Given the description of an element on the screen output the (x, y) to click on. 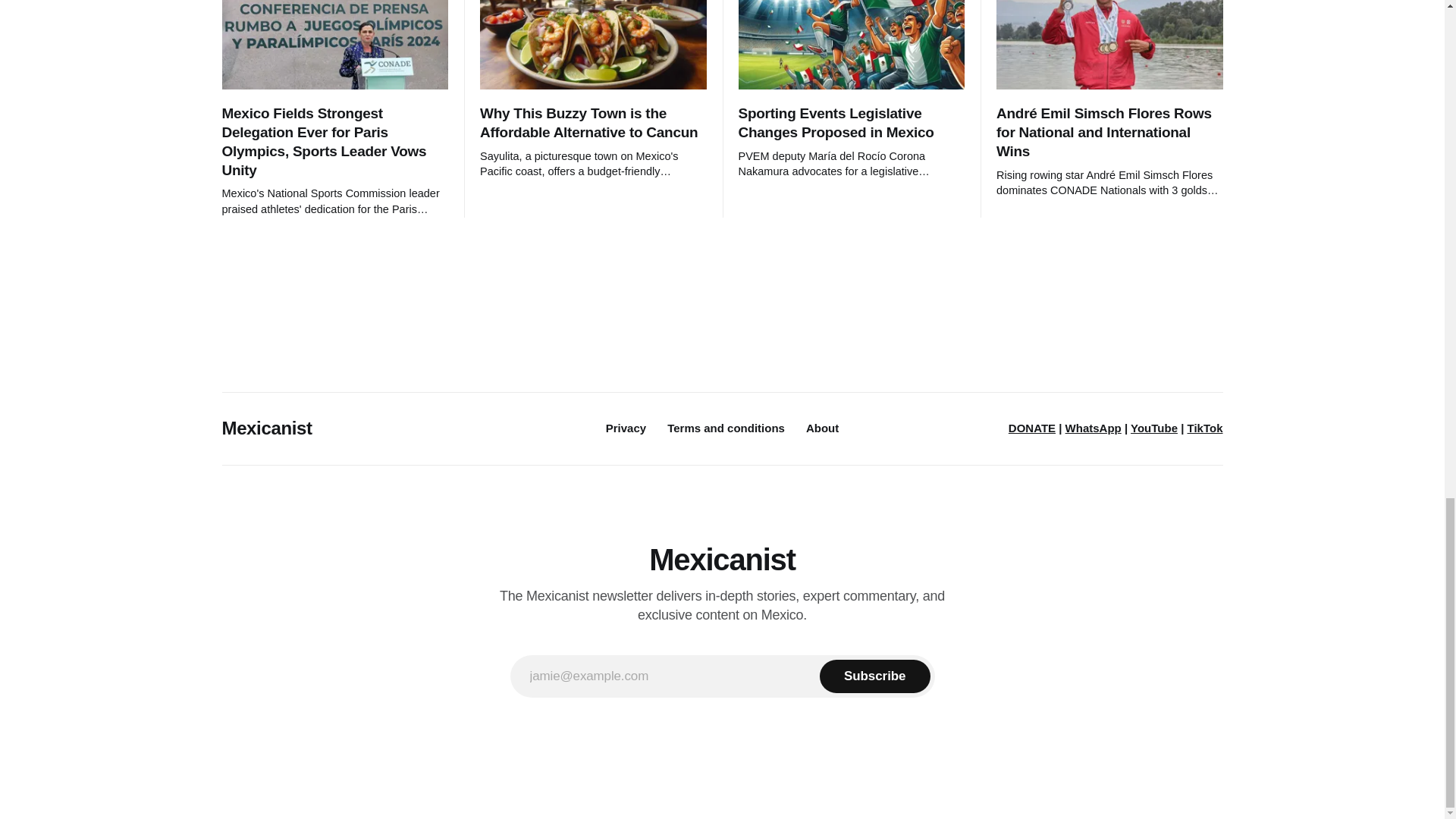
DONATE (1032, 427)
WhatsApp (1093, 427)
TikTok (1205, 427)
Subscribe (874, 676)
About (822, 427)
Privacy (625, 427)
YouTube (1154, 427)
Terms and conditions (725, 427)
